Given the description of an element on the screen output the (x, y) to click on. 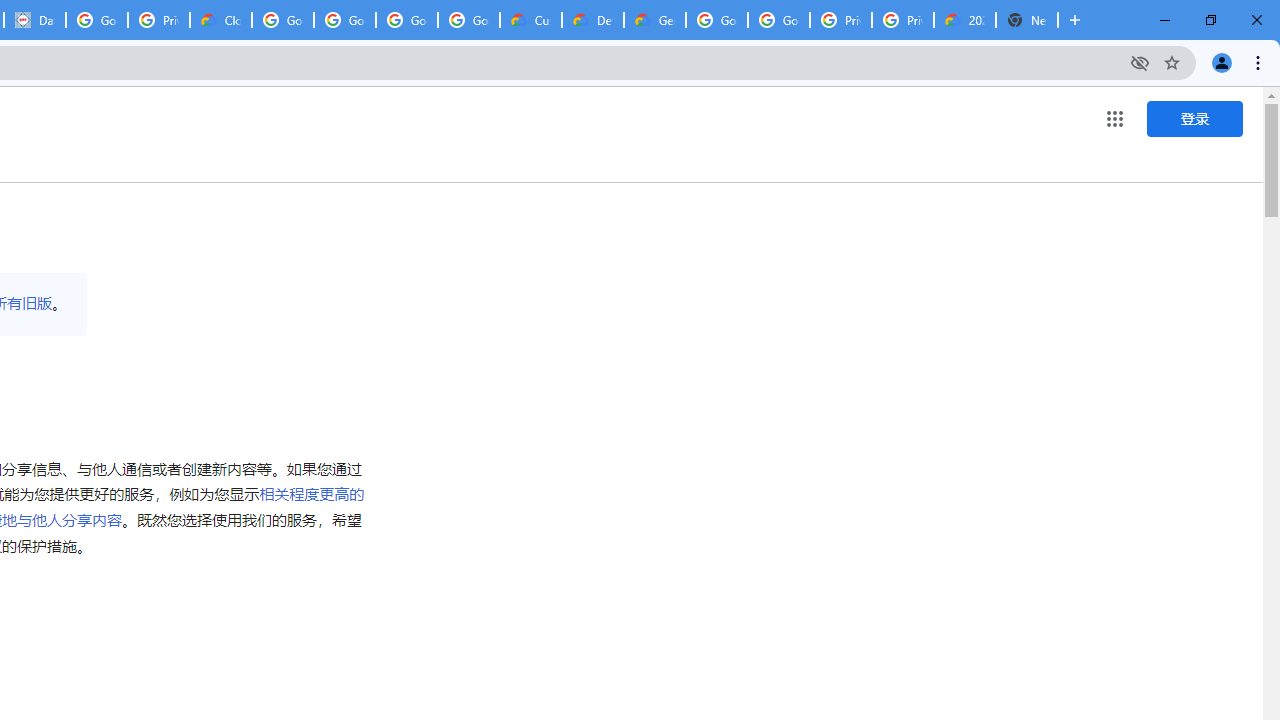
Google Workspace - Specific Terms (406, 20)
Google Cloud Platform (716, 20)
Customer Care | Google Cloud (530, 20)
